Given the description of an element on the screen output the (x, y) to click on. 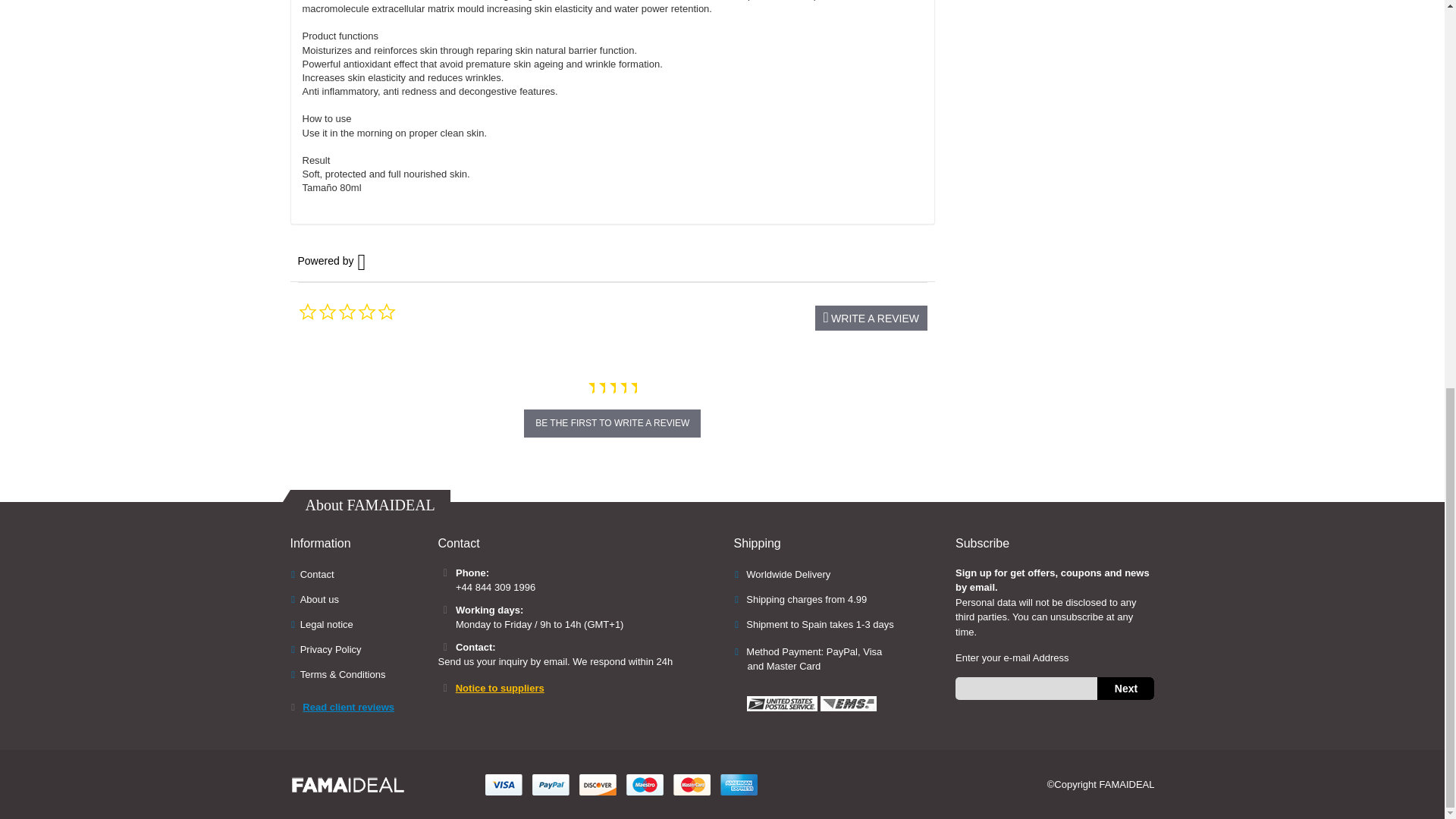
Contact (316, 573)
Contactez (319, 599)
Submit (1125, 688)
Sign up for our newsletter (1054, 688)
CGV (342, 674)
